Given the description of an element on the screen output the (x, y) to click on. 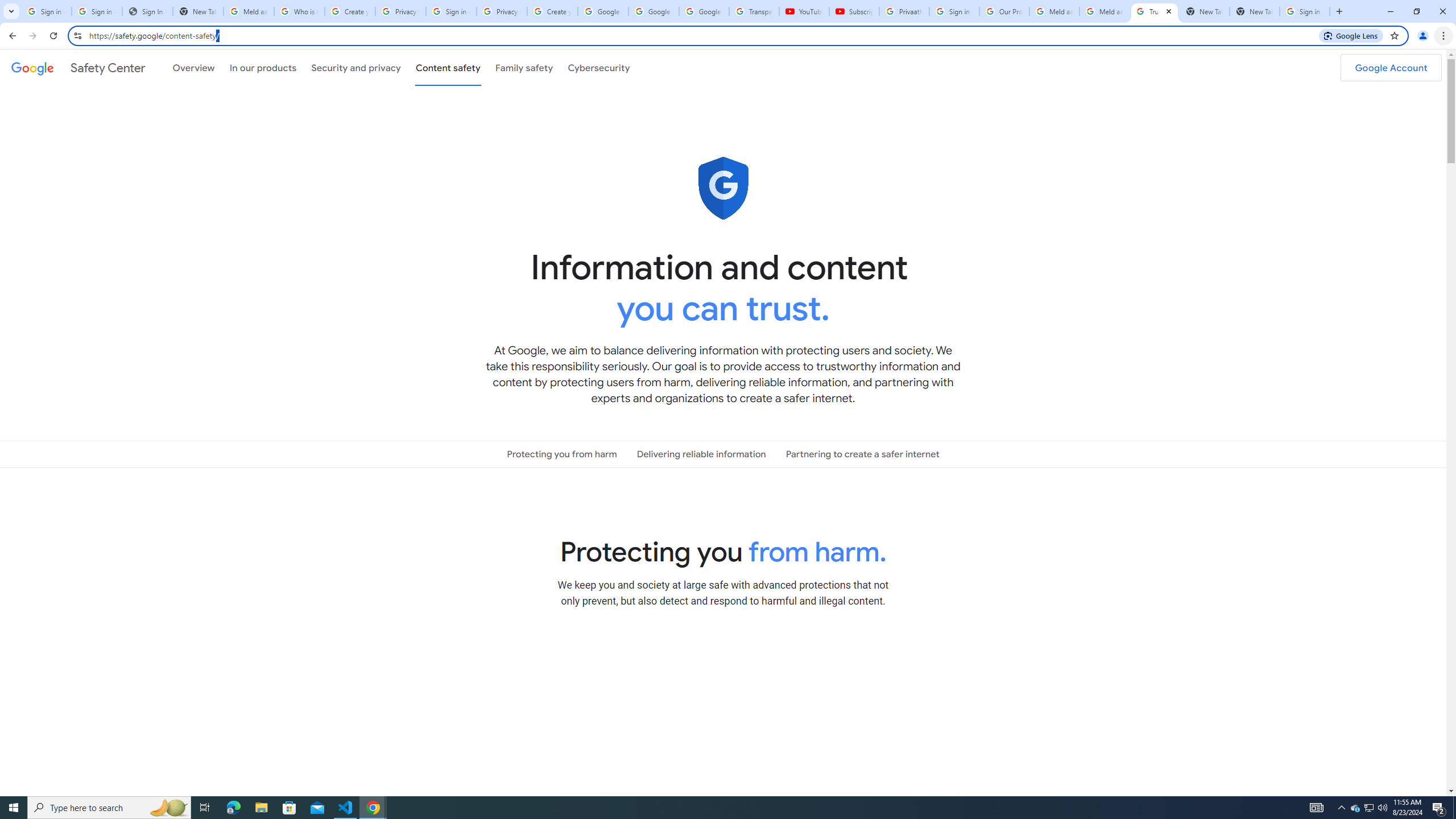
Safety Center (78, 67)
Sign in - Google Accounts (450, 11)
Chrome (1445, 35)
Search tabs (10, 11)
Content safety (447, 67)
